Given the description of an element on the screen output the (x, y) to click on. 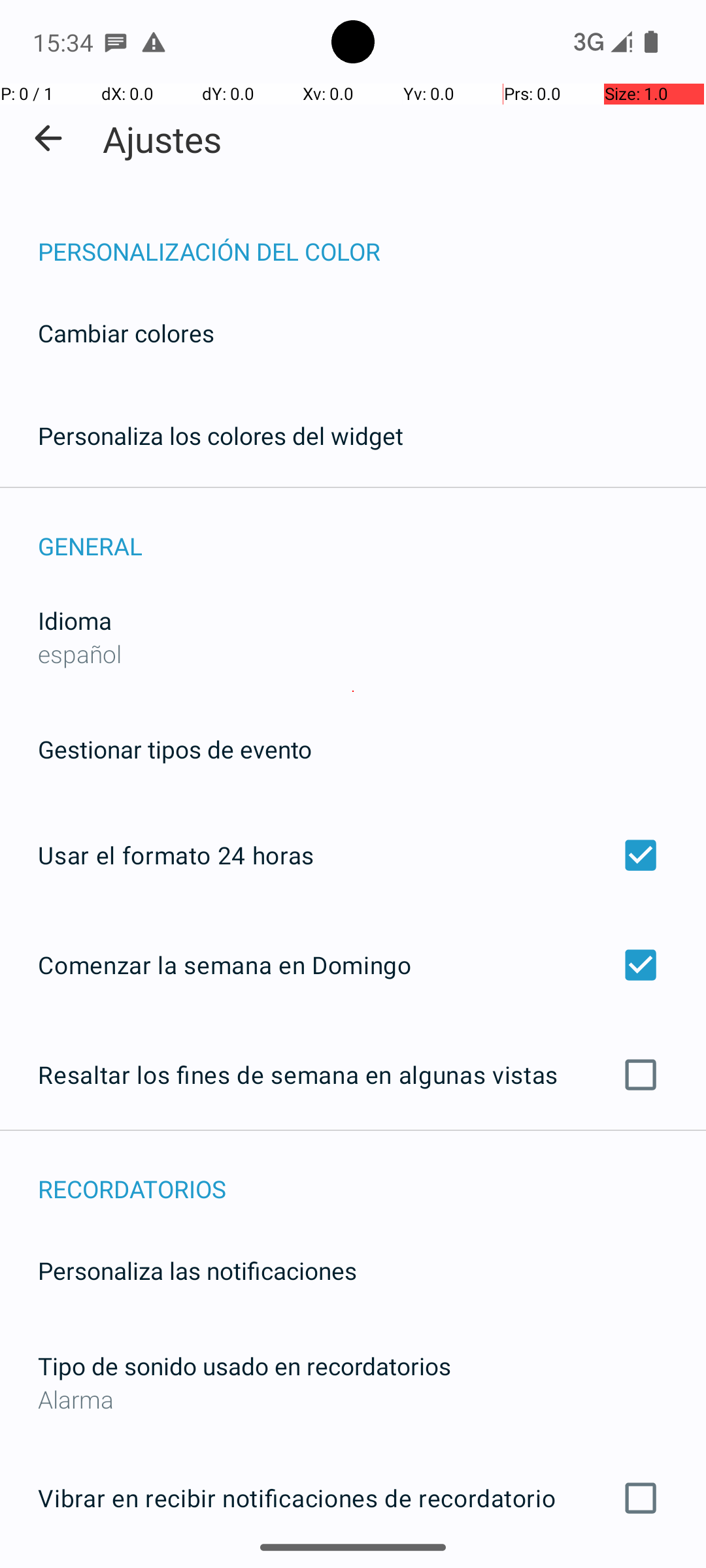
Alarma Element type: android.widget.TextView (352, 1398)
Vibrar en recibir notificaciones de recordatorio Element type: android.widget.CheckBox (352, 1497)
Repetir recordatorios hasta ser descartados Element type: android.widget.CheckBox (352, 1567)
